Given the description of an element on the screen output the (x, y) to click on. 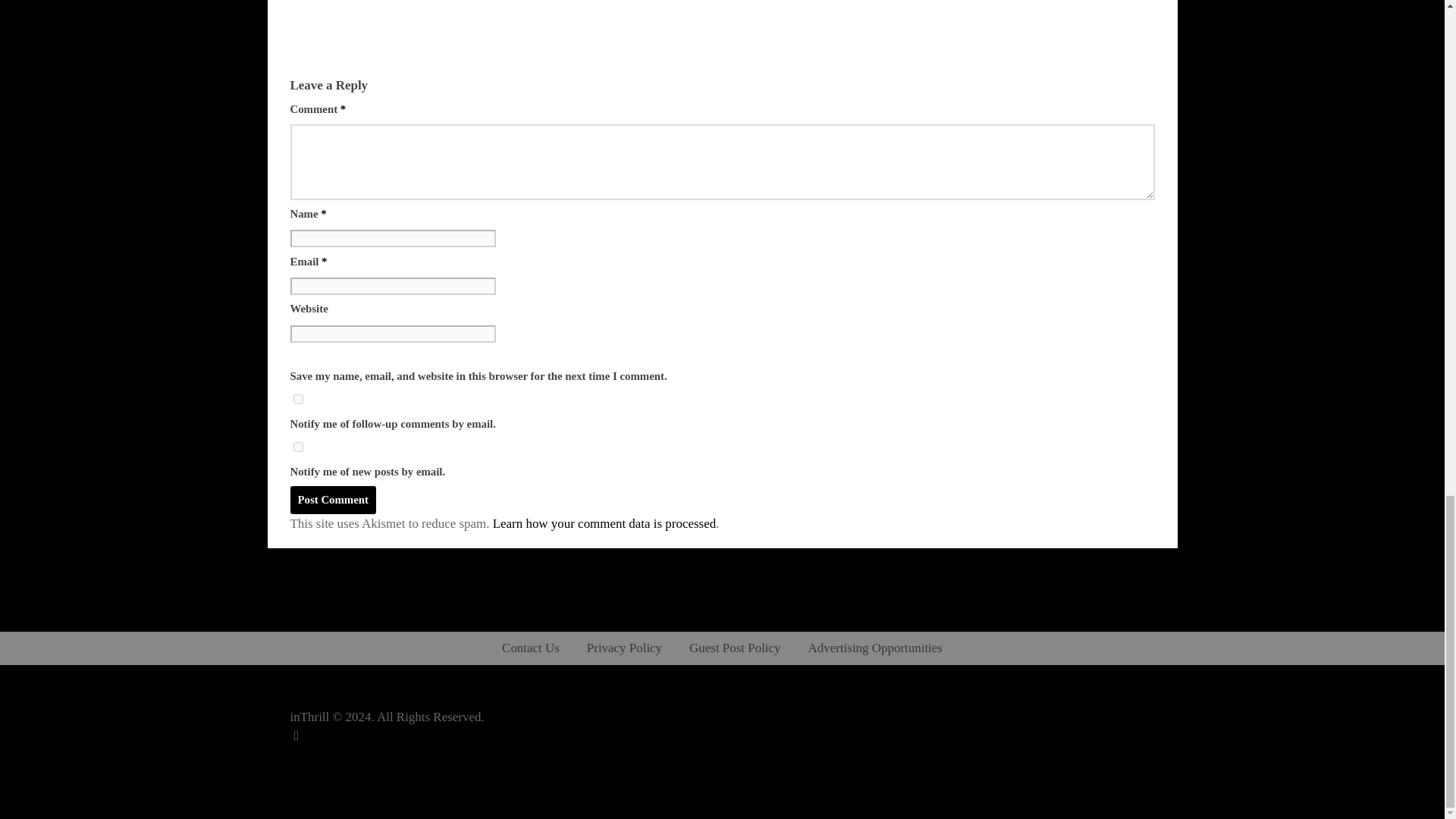
Follow us on Instagram (295, 774)
Follow us on Twitter (295, 735)
Privacy Policy (624, 648)
Post Comment (332, 500)
Learn how your comment data is processed (604, 523)
Follow us on Facebook (295, 755)
Post Comment (332, 500)
subscribe (297, 447)
Follow us on Youtube (295, 794)
Contact Us (530, 648)
Advertising Opportunities (875, 648)
subscribe (297, 398)
Guest Post Policy (734, 648)
